Given the description of an element on the screen output the (x, y) to click on. 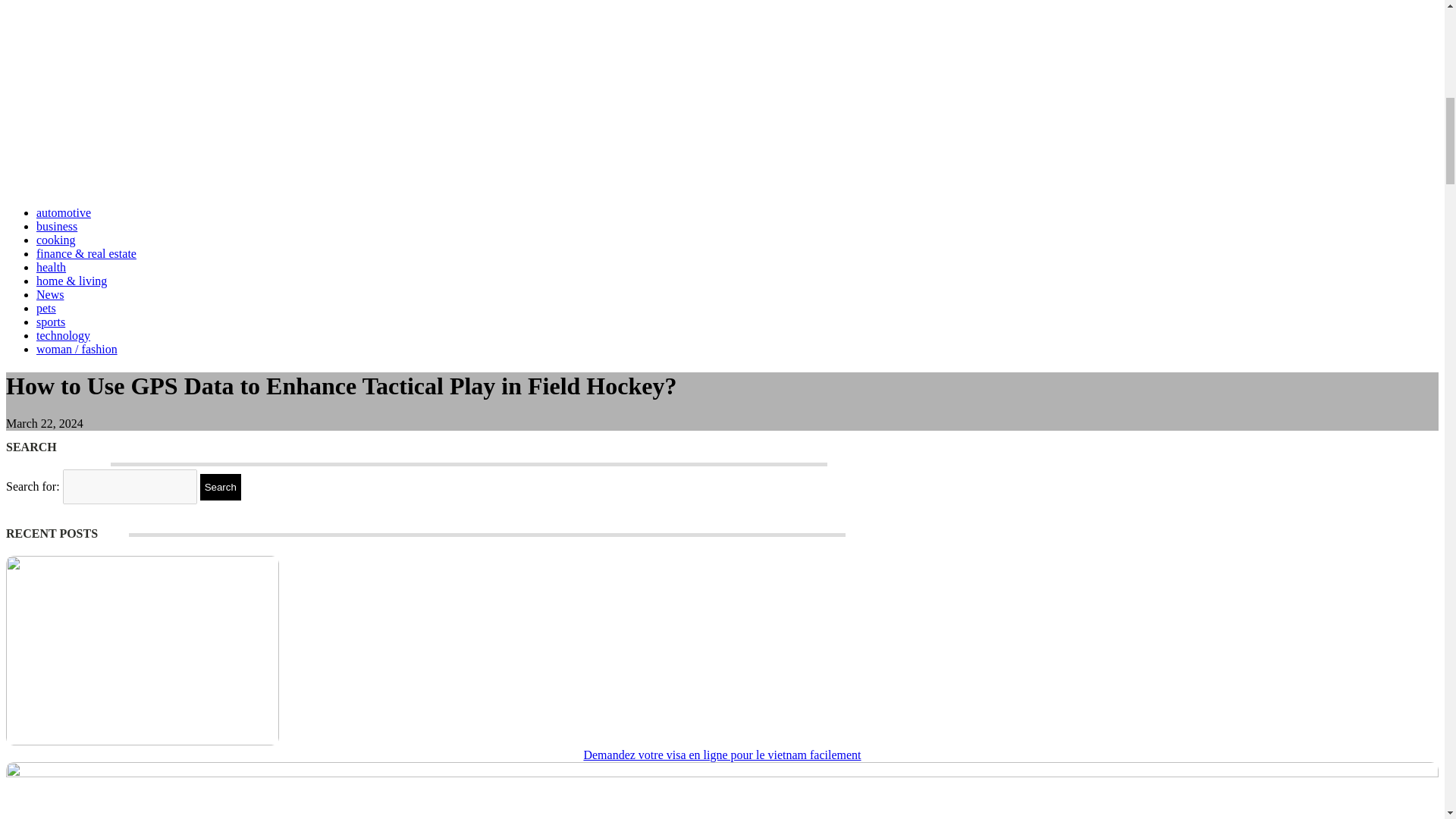
cooking (55, 239)
health (50, 267)
sports (50, 321)
Search (220, 487)
News (50, 294)
business (56, 226)
Demandez votre visa en ligne pour le vietnam facilement (721, 754)
pets (46, 308)
Search (220, 487)
automotive (63, 212)
technology (63, 335)
